Given the description of an element on the screen output the (x, y) to click on. 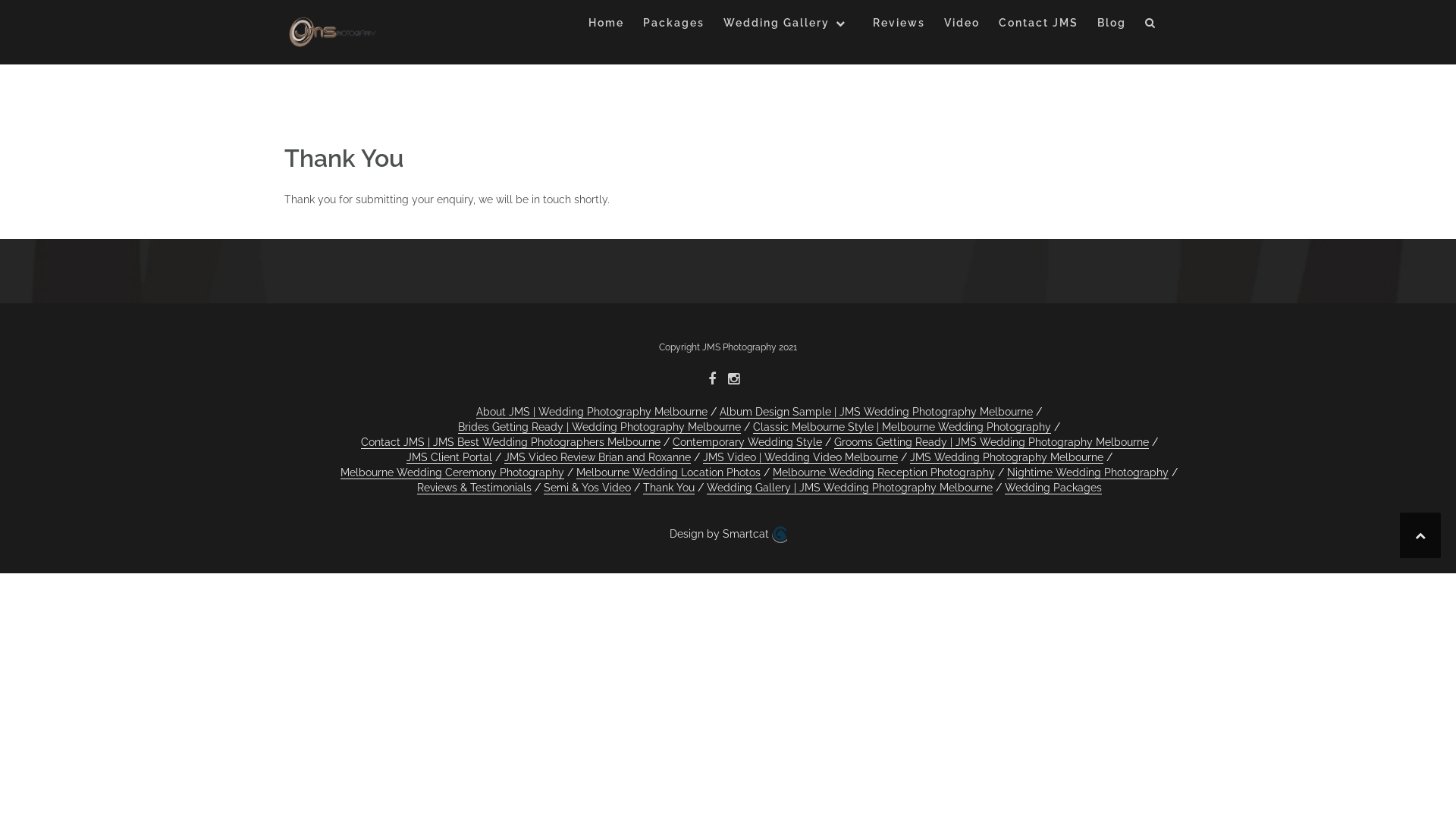
About JMS | Wedding Photography Melbourne Element type: text (591, 411)
Album Design Sample | JMS Wedding Photography Melbourne Element type: text (875, 411)
Contact JMS Element type: text (1038, 25)
Thank You Element type: text (668, 487)
Wedding Gallery Element type: text (788, 25)
Semi & Yos Video Element type: text (586, 487)
Contemporary Wedding Style Element type: text (746, 442)
JMS Video | Wedding Video Melbourne Element type: text (799, 457)
Reviews Element type: text (898, 25)
Reviews & Testimonials Element type: text (474, 487)
JMS Client Portal Element type: text (449, 457)
JMS Photography Element type: hover (331, 32)
JMS Wedding Photography Melbourne Element type: text (1006, 457)
Blog Element type: text (1111, 25)
Home Element type: text (606, 25)
Packages Element type: text (673, 25)
Classic Melbourne Style | Melbourne Wedding Photography Element type: text (902, 426)
Skip to content Element type: text (0, 0)
Contact JMS | JMS Best Wedding Photographers Melbourne Element type: text (510, 442)
Melbourne Wedding Ceremony Photography Element type: text (452, 472)
Melbourne Wedding Reception Photography Element type: text (883, 472)
Design by Smartcat Element type: text (728, 534)
Wedding Packages Element type: text (1052, 487)
Brides Getting Ready | Wedding Photography Melbourne Element type: text (599, 426)
Video Element type: text (961, 25)
Grooms Getting Ready | JMS Wedding Photography Melbourne Element type: text (991, 442)
Wedding Gallery | JMS Wedding Photography Melbourne Element type: text (849, 487)
Nightime Wedding Photography Element type: text (1087, 472)
Melbourne Wedding Location Photos Element type: text (668, 472)
JMS Video Review Brian and Roxanne Element type: text (596, 457)
